Given the description of an element on the screen output the (x, y) to click on. 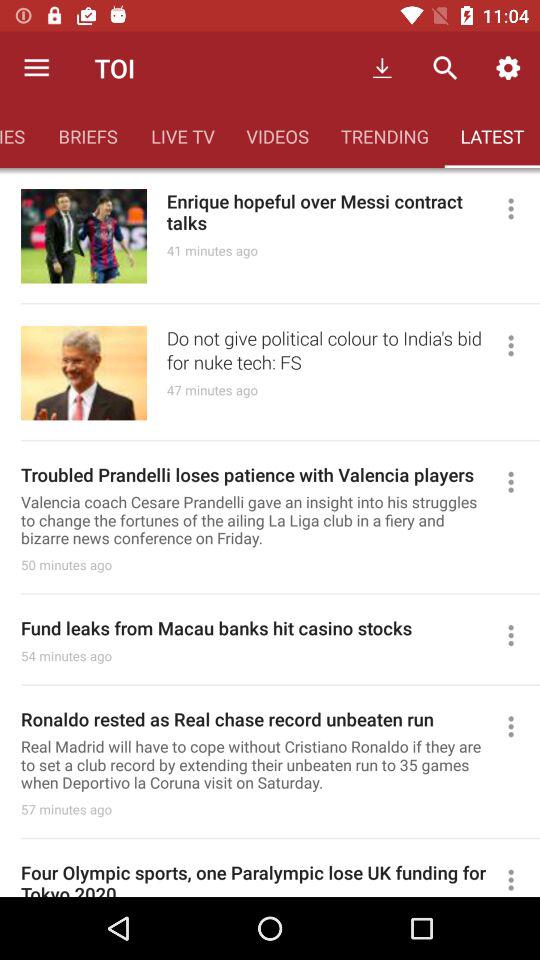
toggle options (519, 635)
